Given the description of an element on the screen output the (x, y) to click on. 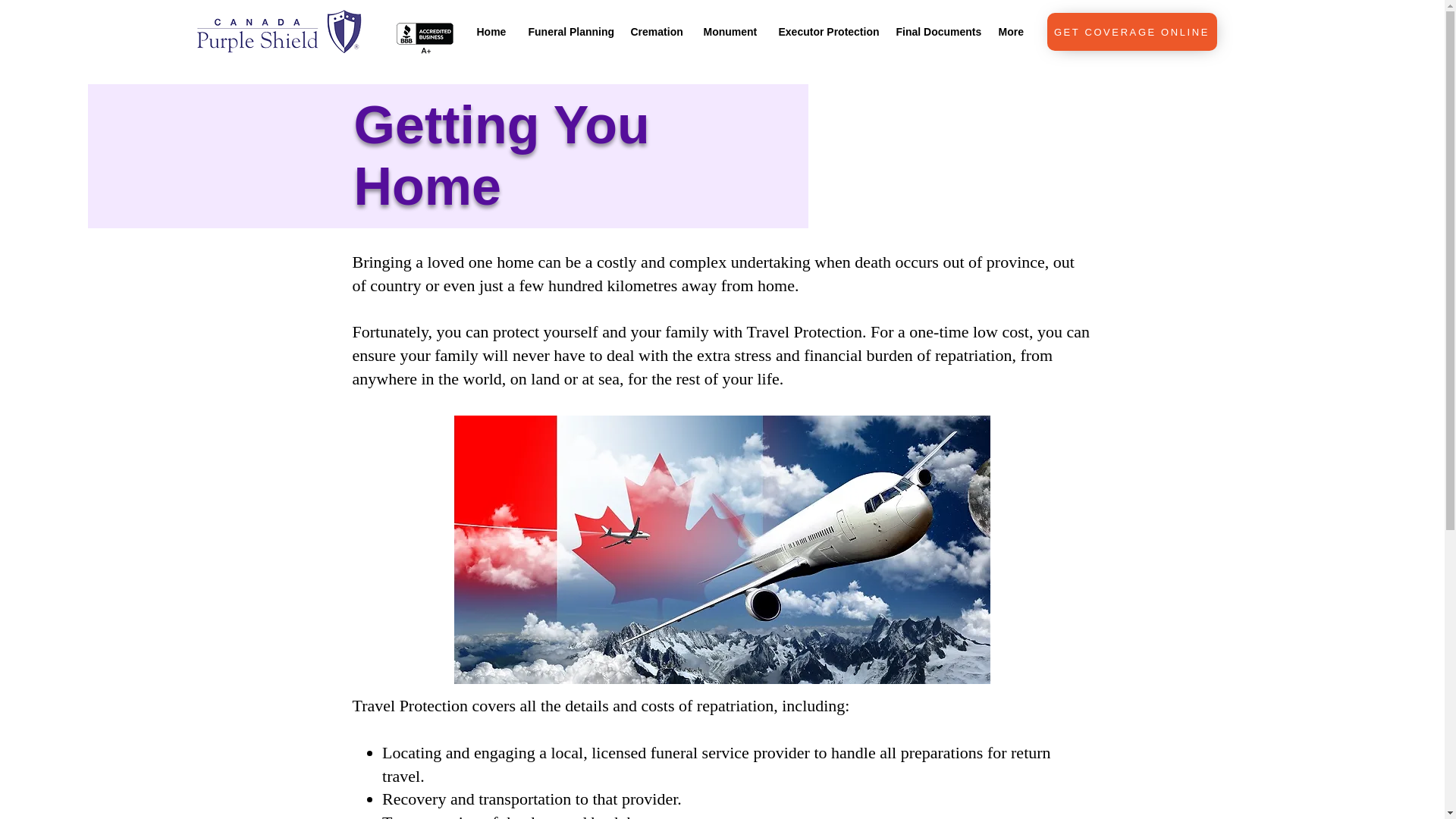
Funeral Planning (568, 31)
GET COVERAGE ONLINE (1130, 31)
Final Documents (935, 31)
Monument (729, 31)
Home (490, 31)
Cremation (654, 31)
Executor Protection (826, 31)
